Given the description of an element on the screen output the (x, y) to click on. 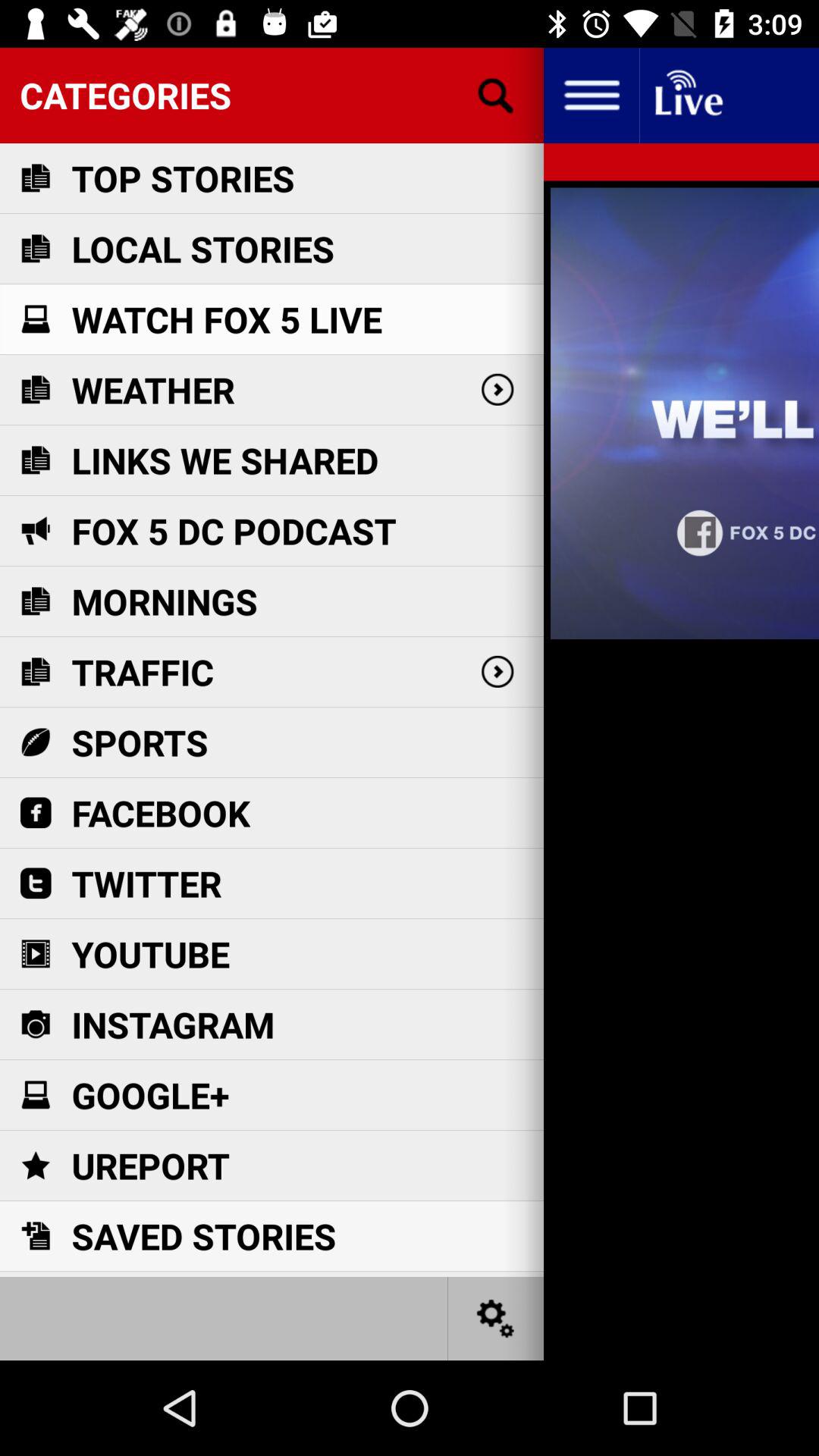
tap the traffic item (142, 671)
